Given the description of an element on the screen output the (x, y) to click on. 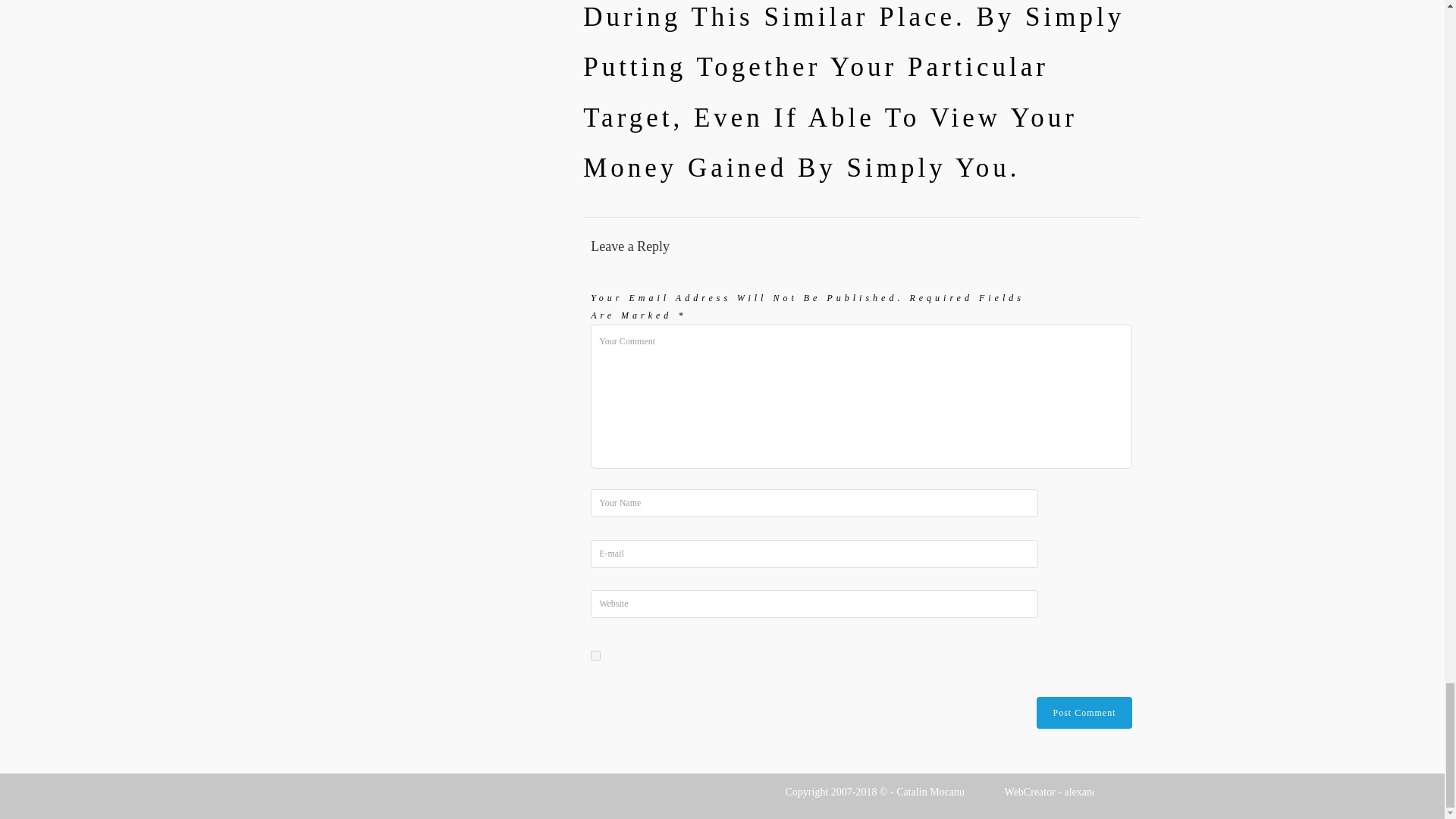
Post Comment (1083, 712)
Post Comment (1083, 712)
yes (595, 655)
